Given the description of an element on the screen output the (x, y) to click on. 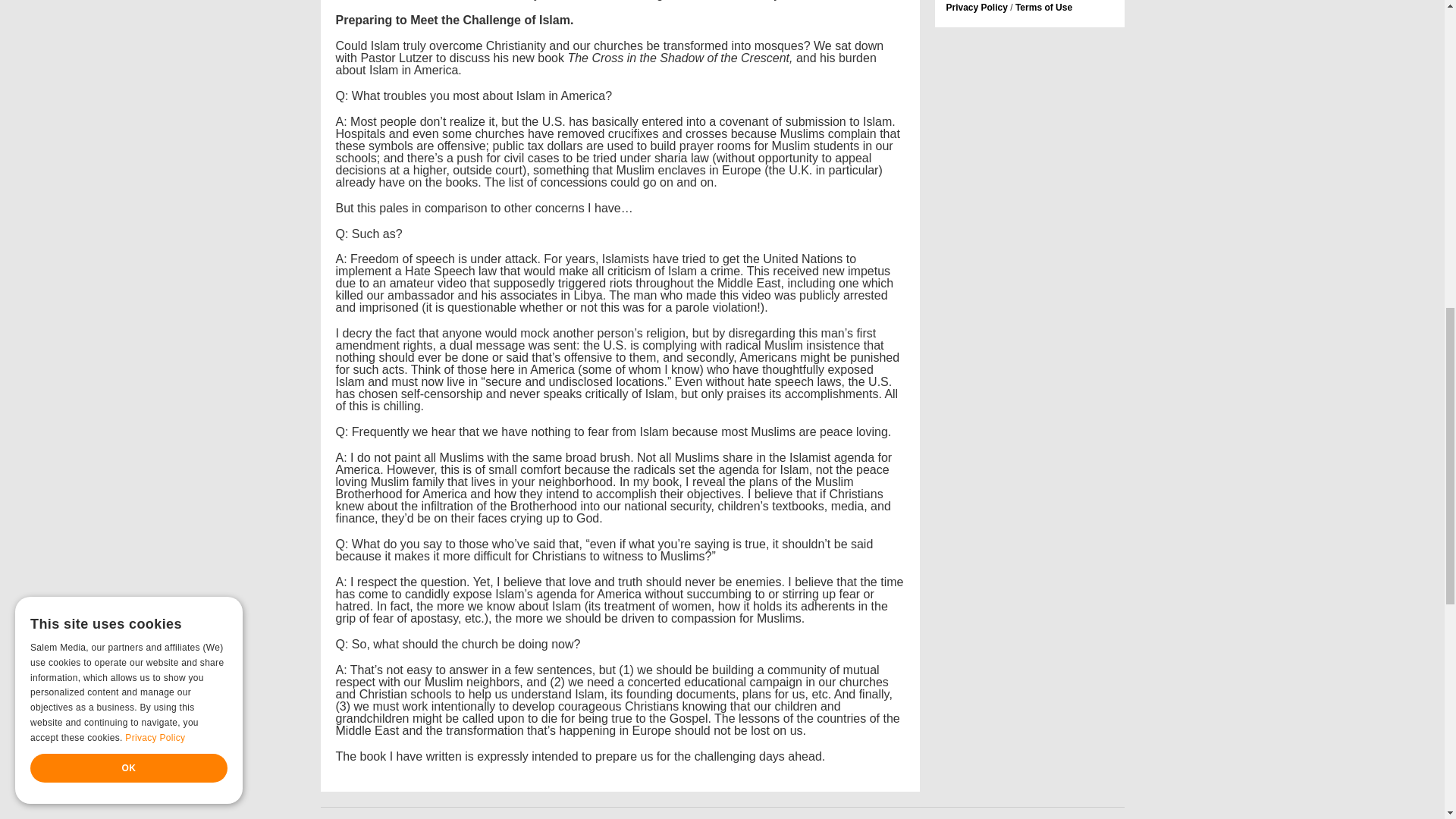
Terms of Use (1042, 7)
Privacy Policy (976, 7)
